Given the description of an element on the screen output the (x, y) to click on. 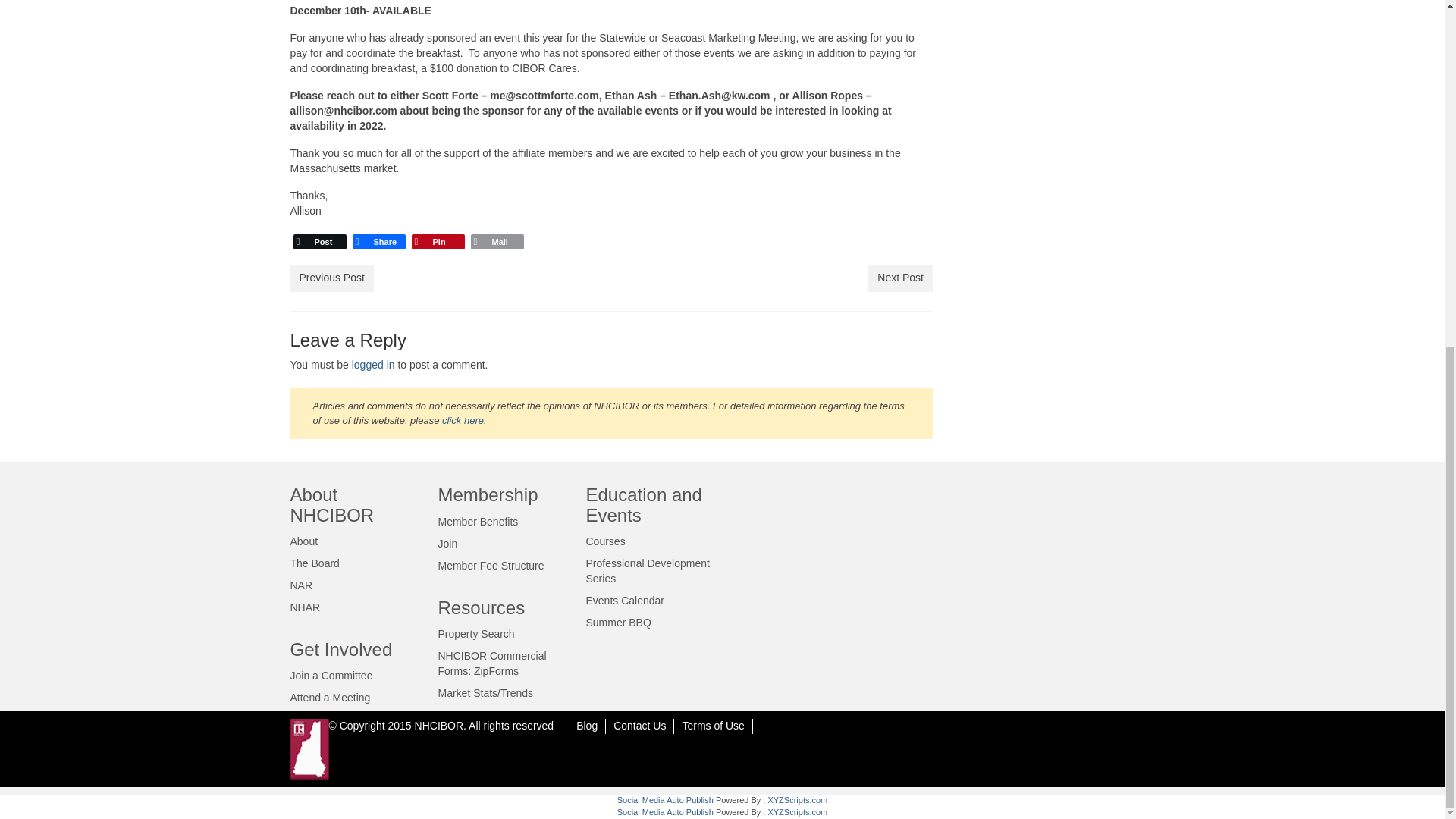
Pinterest (437, 241)
Social Media Auto Publish (665, 799)
Facebook (378, 241)
Social Media Auto Publish (665, 811)
Email This (496, 241)
